Given the description of an element on the screen output the (x, y) to click on. 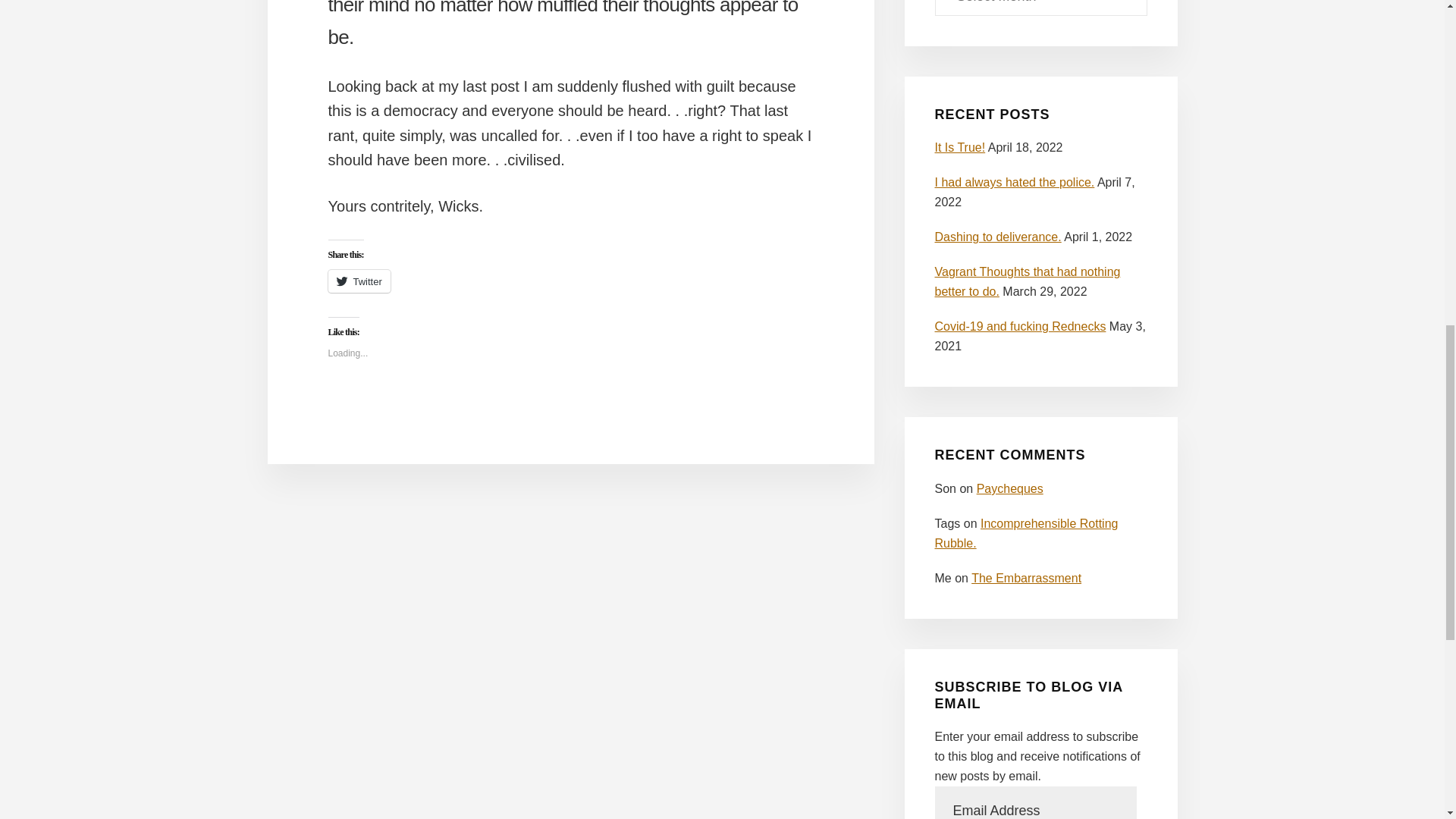
It Is True! (959, 146)
Paycheques (1009, 488)
I had always hated the police. (1014, 182)
Incomprehensible Rotting Rubble. (1026, 532)
Vagrant Thoughts that had nothing better to do. (1026, 281)
The Embarrassment (1026, 577)
Covid-19 and fucking Rednecks (1019, 326)
Twitter (358, 281)
Click to share on Twitter (358, 281)
Dashing to deliverance. (997, 236)
